Given the description of an element on the screen output the (x, y) to click on. 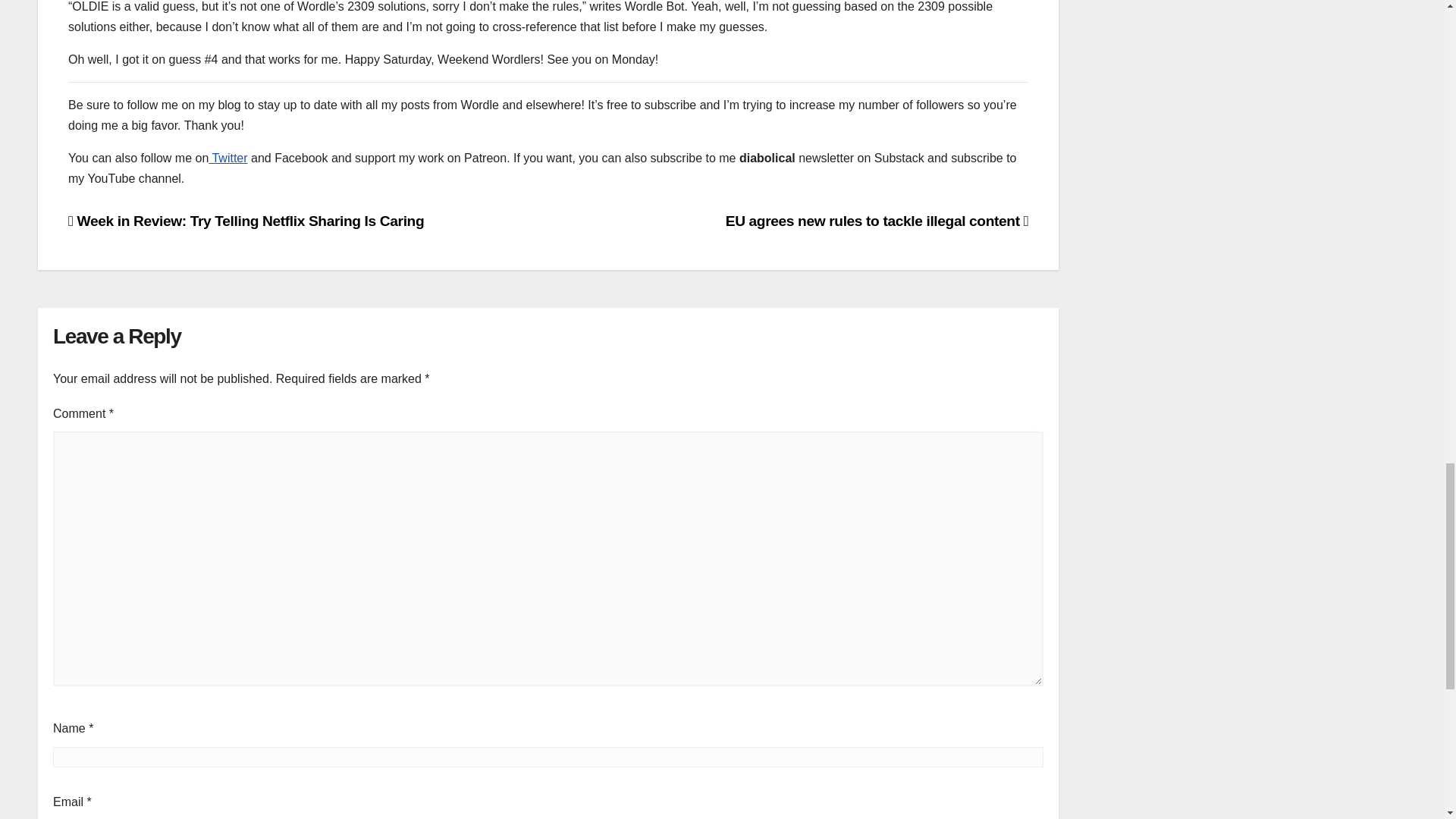
Twitter (227, 157)
Week in Review: Try Telling Netflix Sharing Is Caring (245, 220)
EU agrees new rules to tackle illegal content (877, 220)
